Given the description of an element on the screen output the (x, y) to click on. 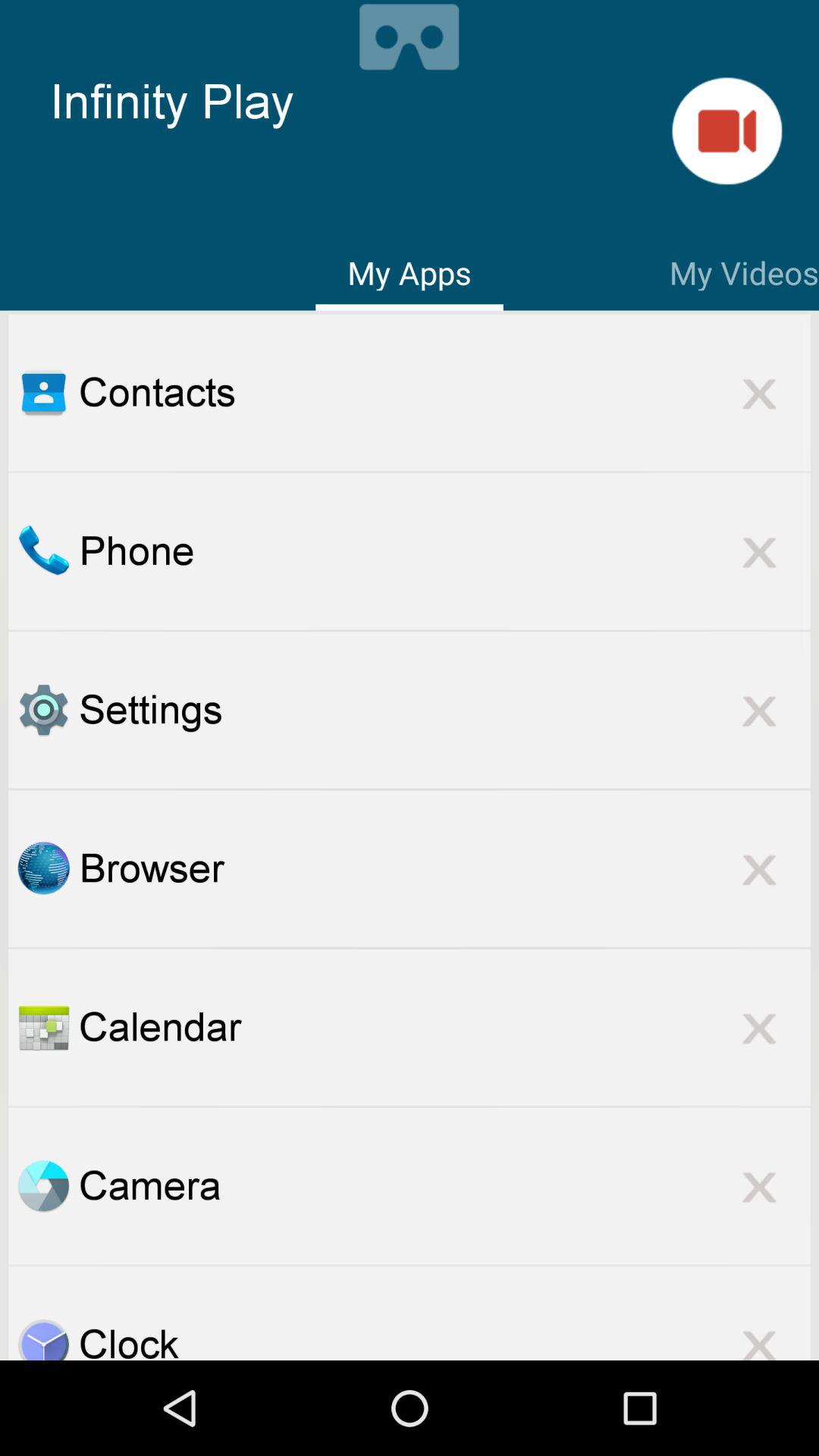
turn on the browser icon (444, 868)
